Given the description of an element on the screen output the (x, y) to click on. 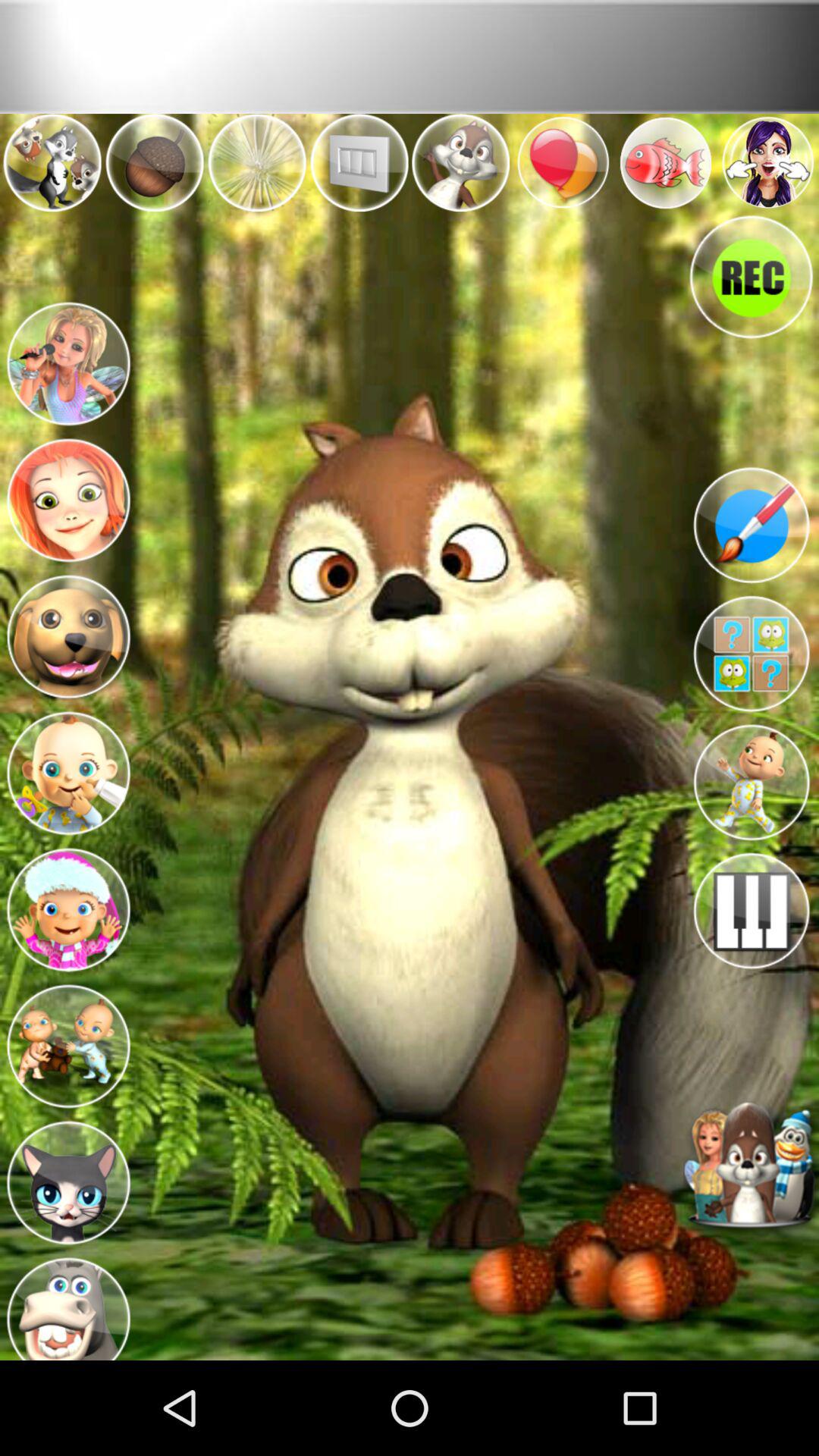
switch charachters (68, 361)
